Given the description of an element on the screen output the (x, y) to click on. 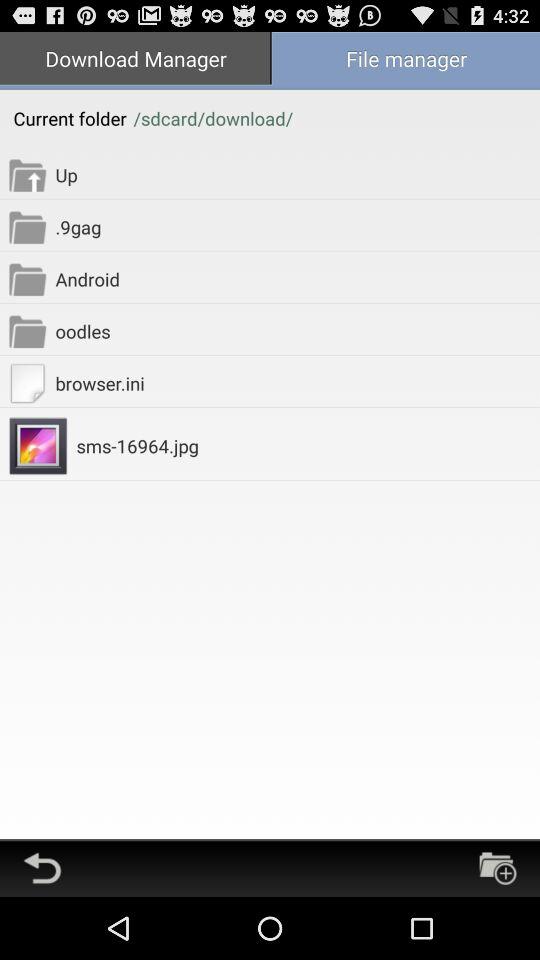
jump until oodles (297, 330)
